Given the description of an element on the screen output the (x, y) to click on. 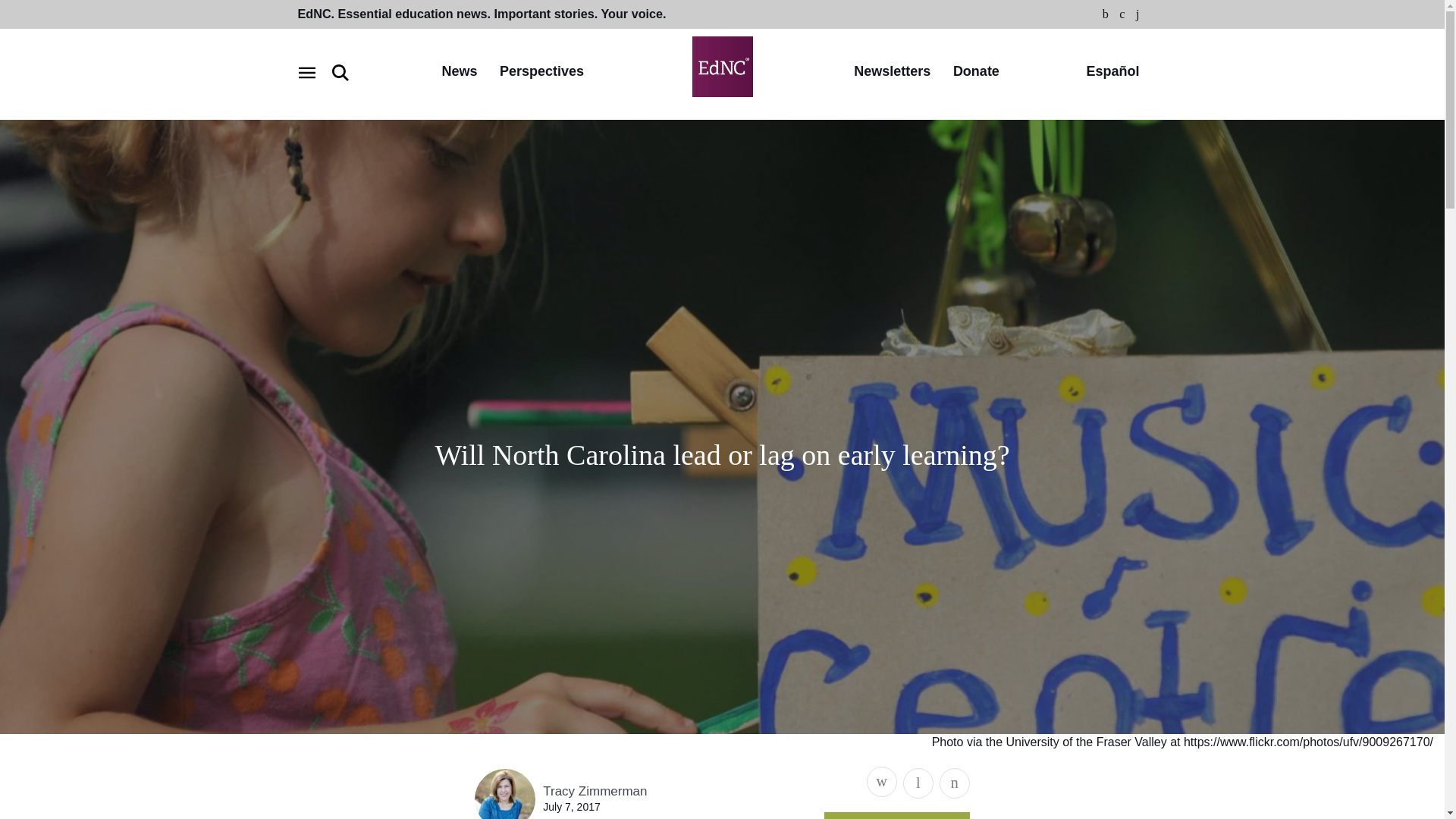
Newsletters (891, 71)
Twitter (1121, 13)
Donate (975, 71)
Tracy Zimmerman (594, 790)
Open navigation (306, 72)
News (459, 71)
Instagram (1137, 13)
Perspectives (541, 71)
Share this page (881, 781)
Facebook (1105, 13)
